Given the description of an element on the screen output the (x, y) to click on. 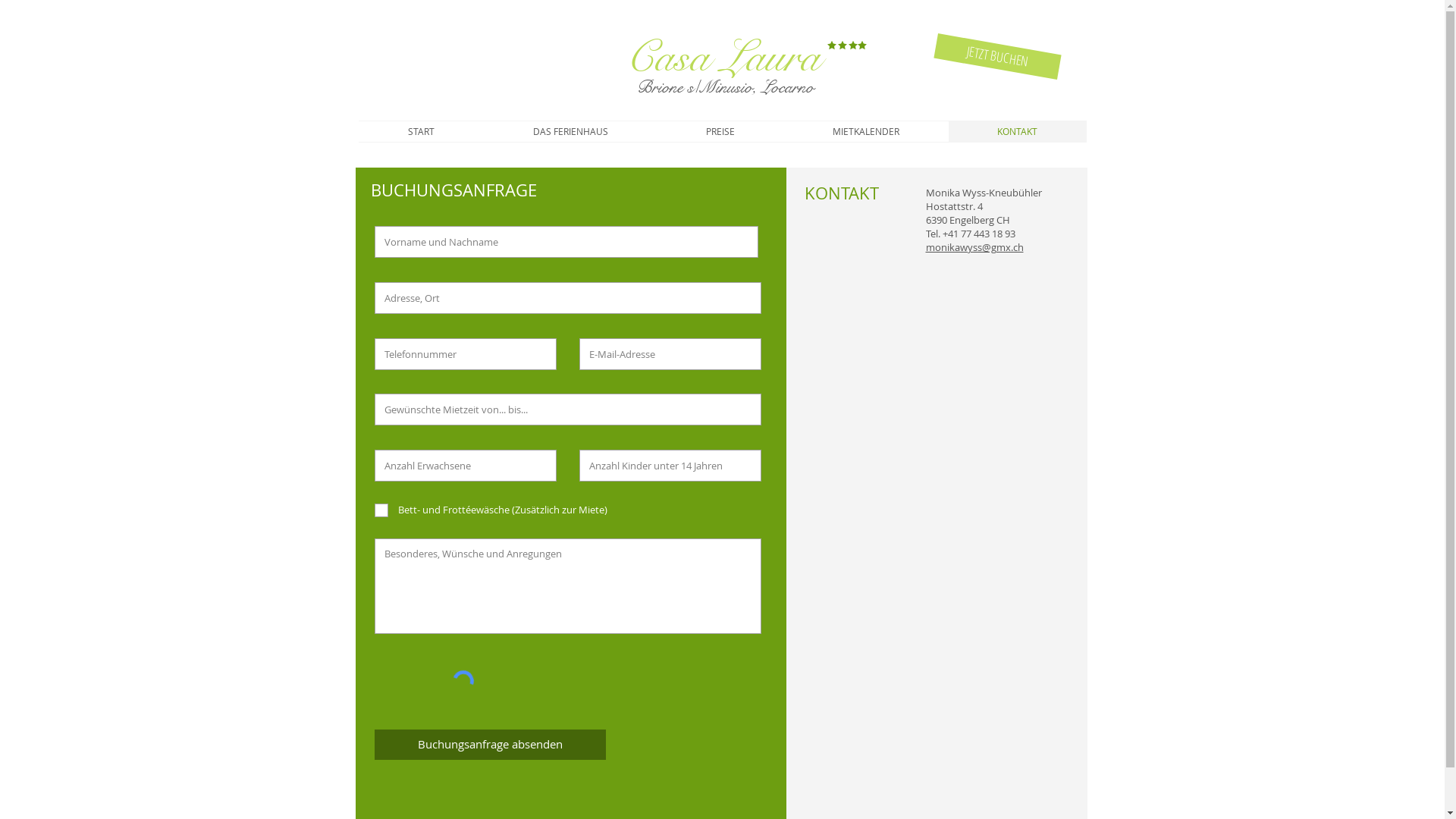
monikawyss@gmx.ch Element type: text (973, 247)
PREISE Element type: text (719, 131)
KONTAKT Element type: text (1016, 131)
Buchungsanfrage absenden Element type: text (489, 744)
JETZT BUCHEN Element type: text (995, 45)
START Element type: text (420, 131)
Casa Laura Element type: text (722, 57)
DAS FERIENHAUS Element type: text (570, 131)
MIETKALENDER Element type: text (866, 131)
